Given the description of an element on the screen output the (x, y) to click on. 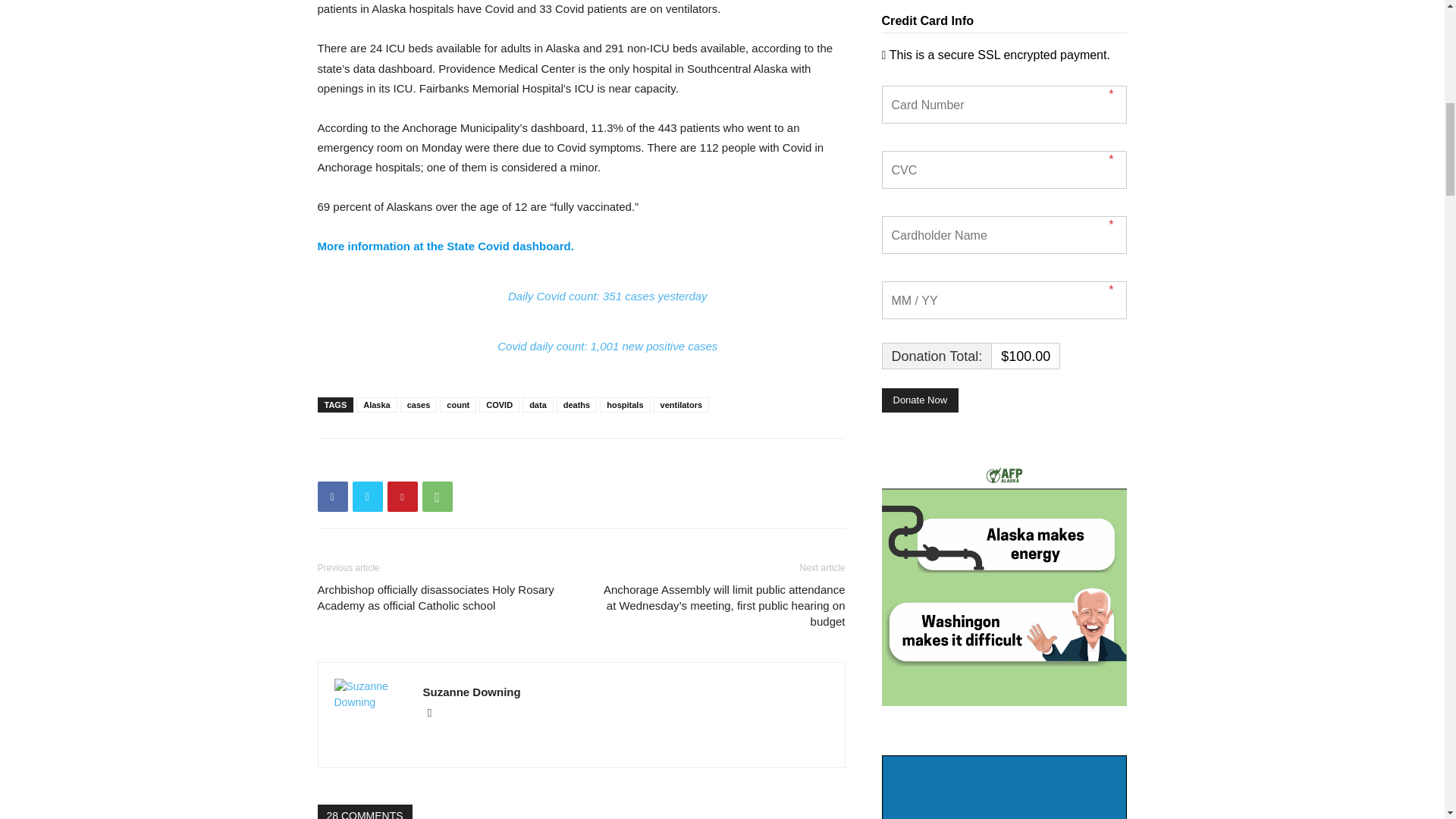
Donate Now (919, 400)
